Given the description of an element on the screen output the (x, y) to click on. 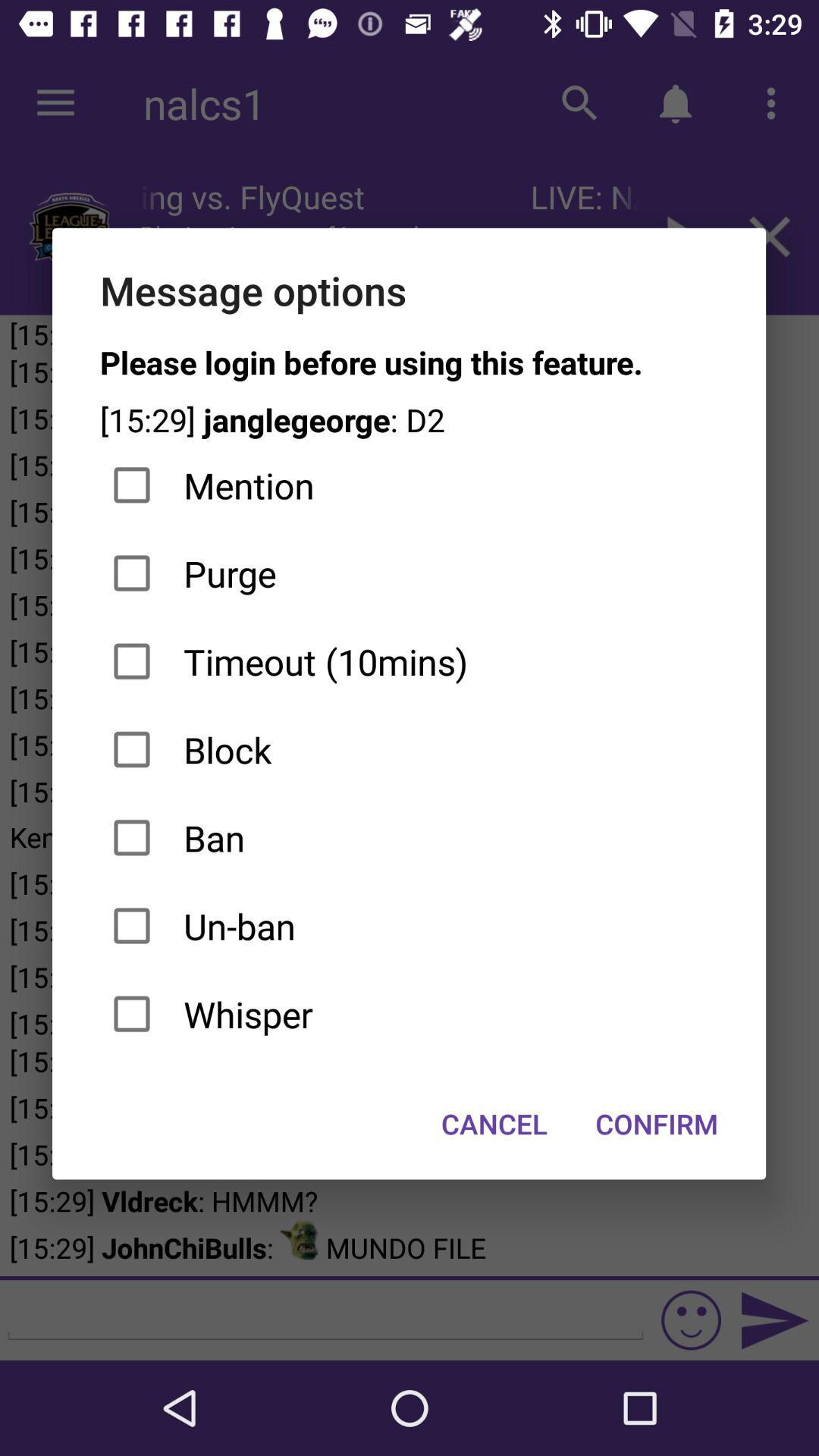
click purge (409, 573)
